Given the description of an element on the screen output the (x, y) to click on. 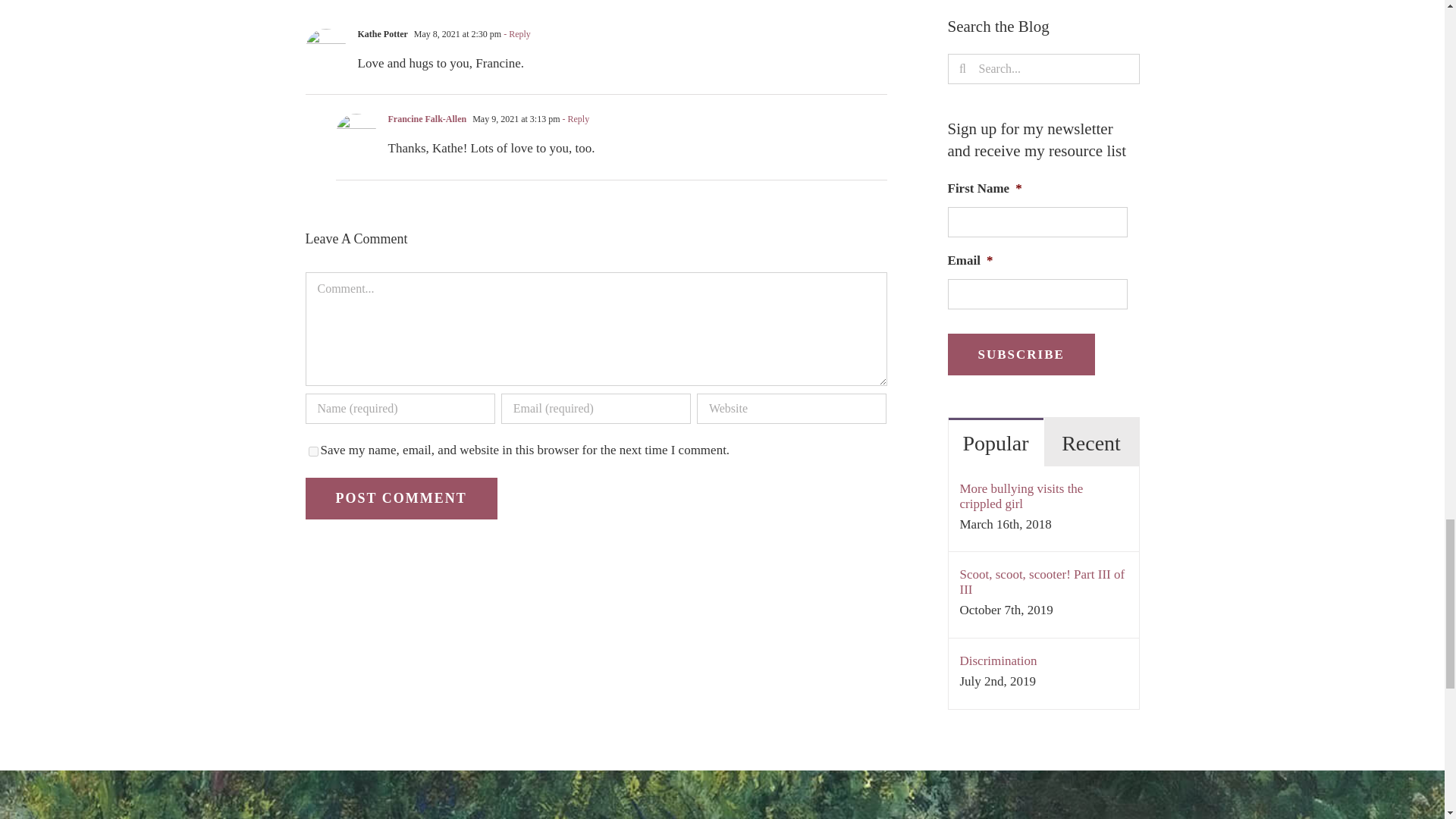
Post Comment (400, 498)
Francine Falk-Allen (427, 118)
Subscribe (1020, 354)
- Reply (515, 33)
yes (312, 451)
